Given the description of an element on the screen output the (x, y) to click on. 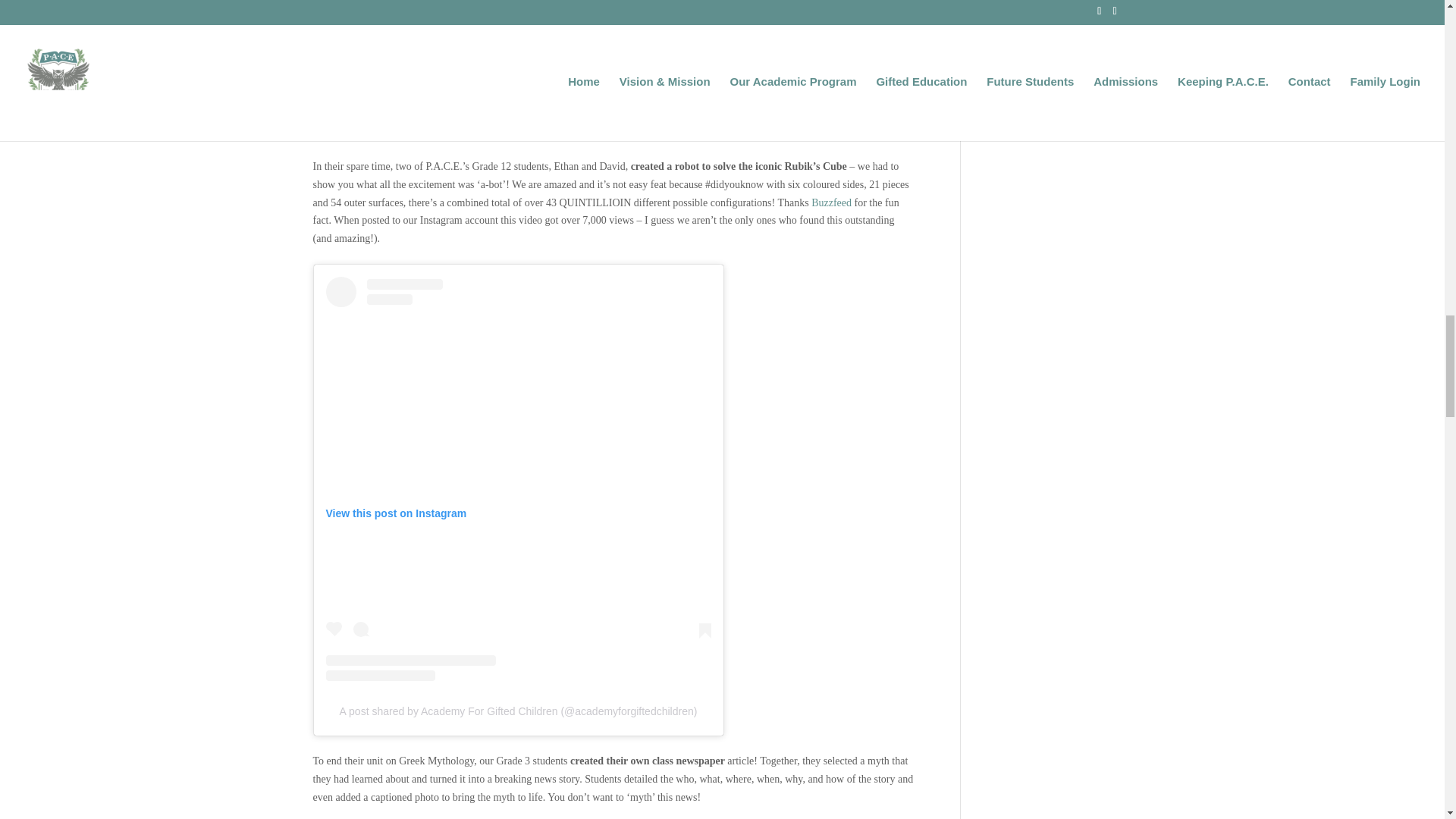
Buzzfeed (830, 202)
image1 (614, 70)
